Given the description of an element on the screen output the (x, y) to click on. 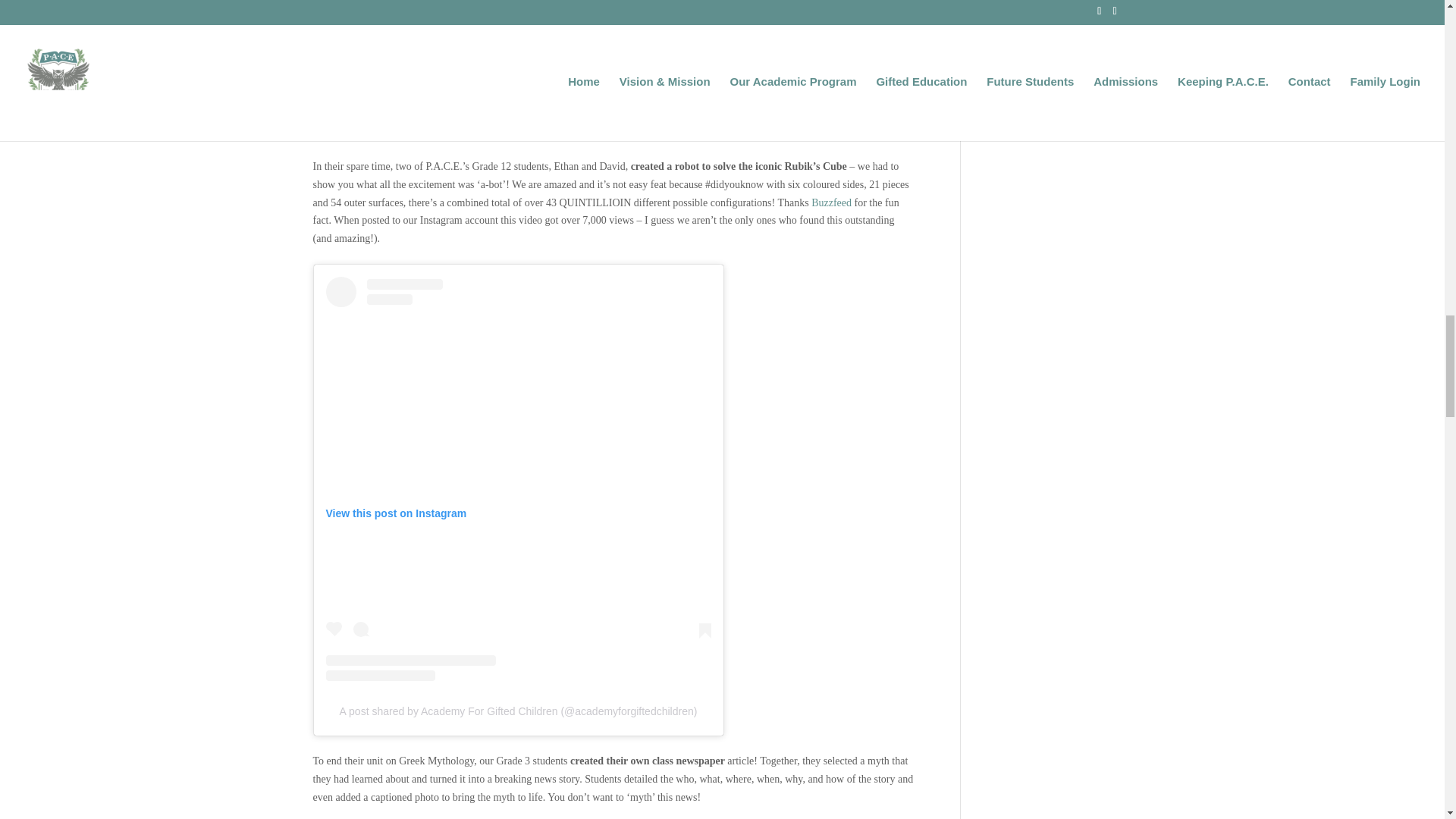
Buzzfeed (830, 202)
image1 (614, 70)
